Given the description of an element on the screen output the (x, y) to click on. 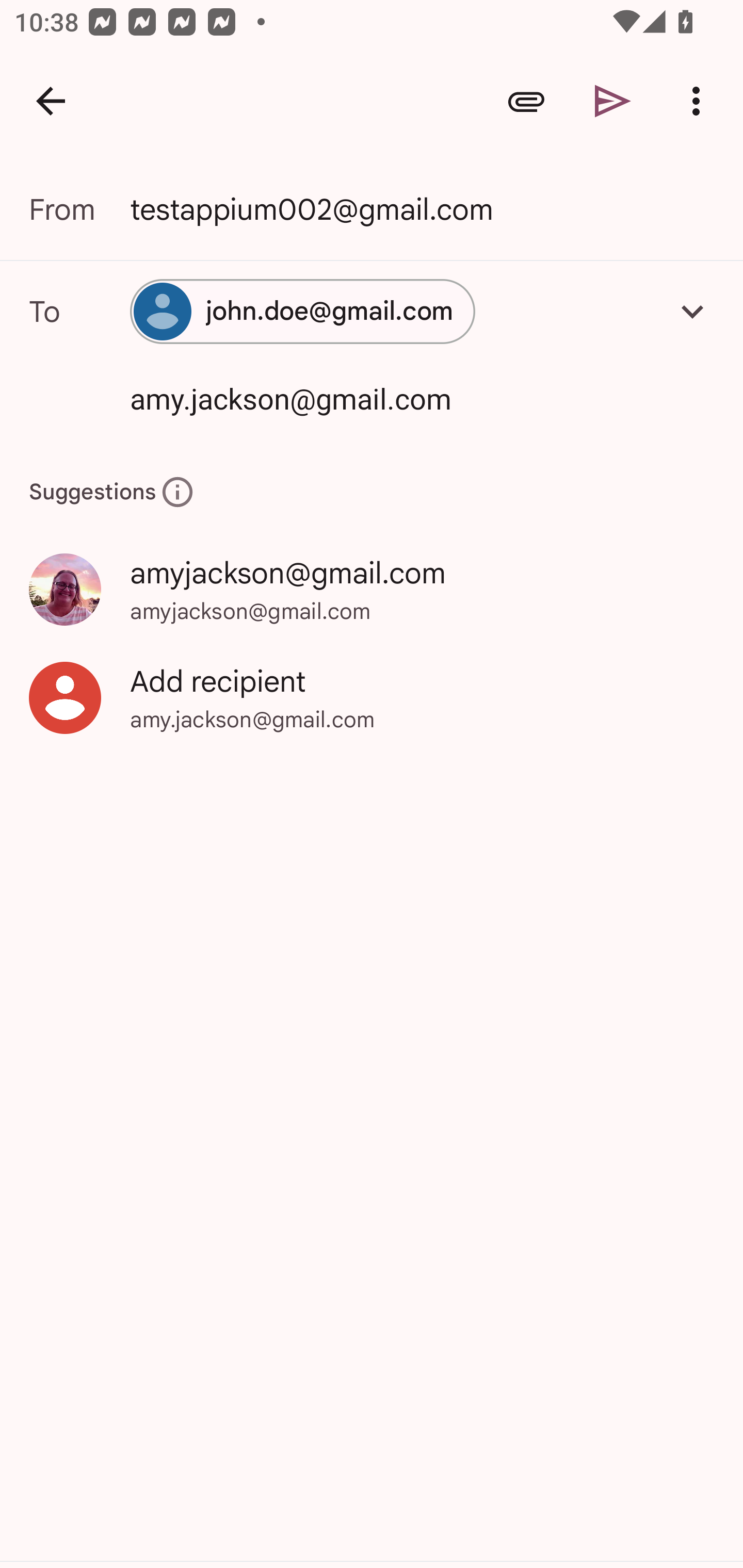
Navigate up (50, 101)
Attach file (525, 101)
Send (612, 101)
More options (699, 101)
From (79, 209)
Add Cc/Bcc (692, 311)
amy.jackson@gmail.com (393, 398)
Add recipient amy.jackson@gmail.com (371, 698)
